Given the description of an element on the screen output the (x, y) to click on. 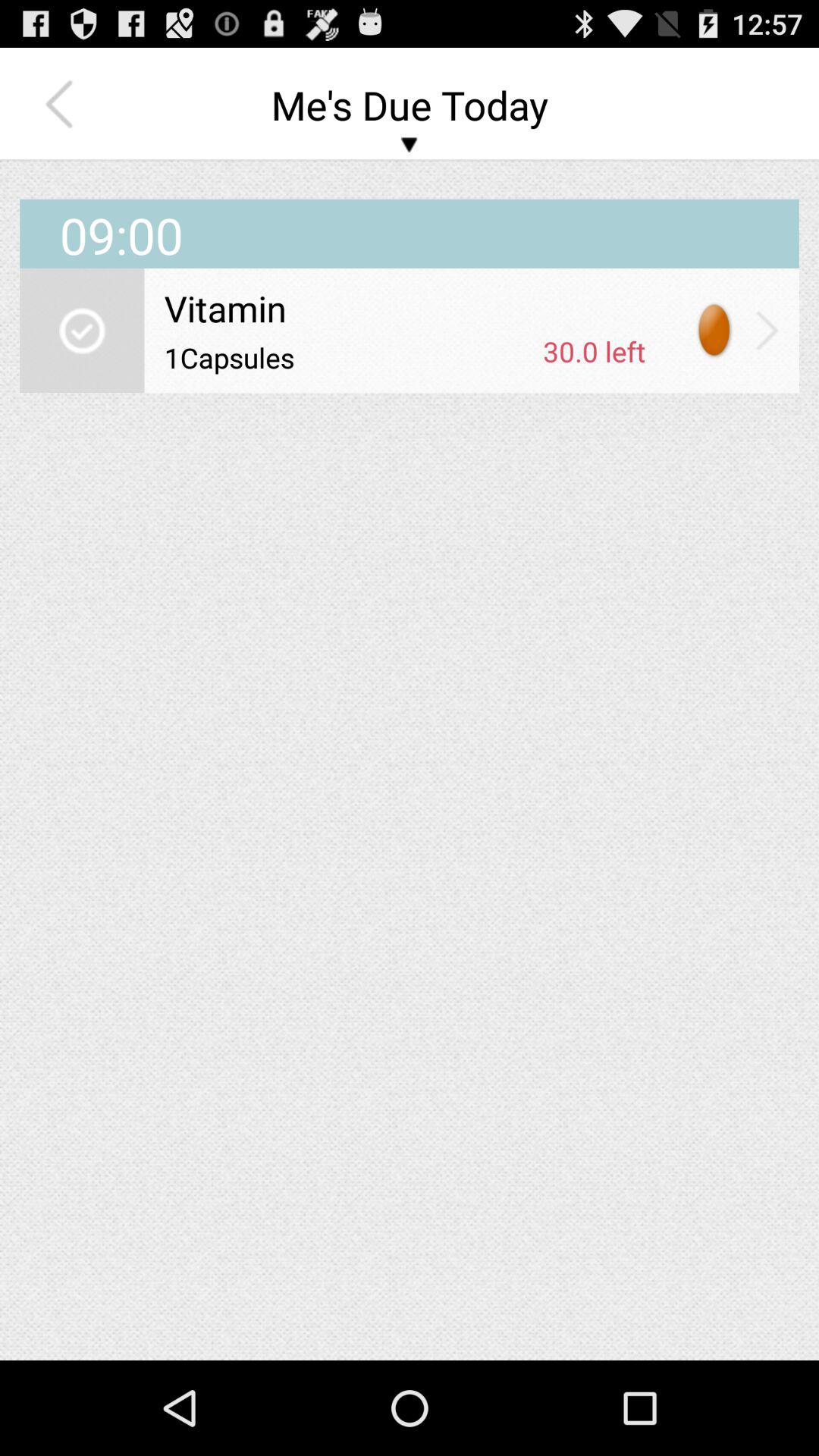
click item to the right of 1capsules app (594, 351)
